Given the description of an element on the screen output the (x, y) to click on. 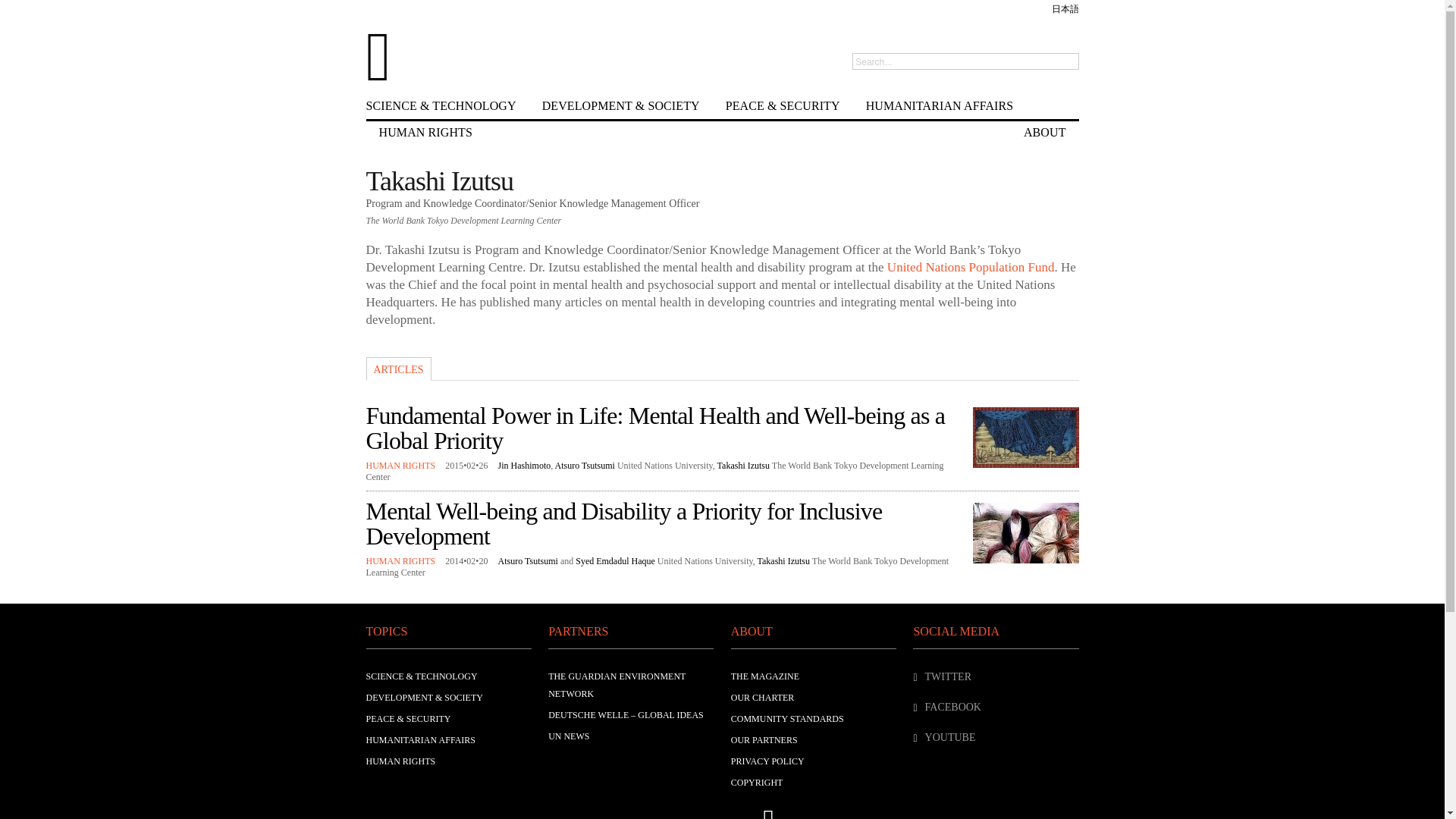
Takashi Izutsu (783, 561)
Atsuro Tsutsumi (527, 561)
United Nations Population Fund (970, 267)
View all posts in HUMAN RIGHTS (400, 561)
HUMAN RIGHTS (400, 760)
THE GUARDIAN ENVIRONMENT NETWORK (616, 684)
ARTICLES (397, 368)
Atsuro Tsutsumi (584, 465)
ABOUT (1044, 130)
